Given the description of an element on the screen output the (x, y) to click on. 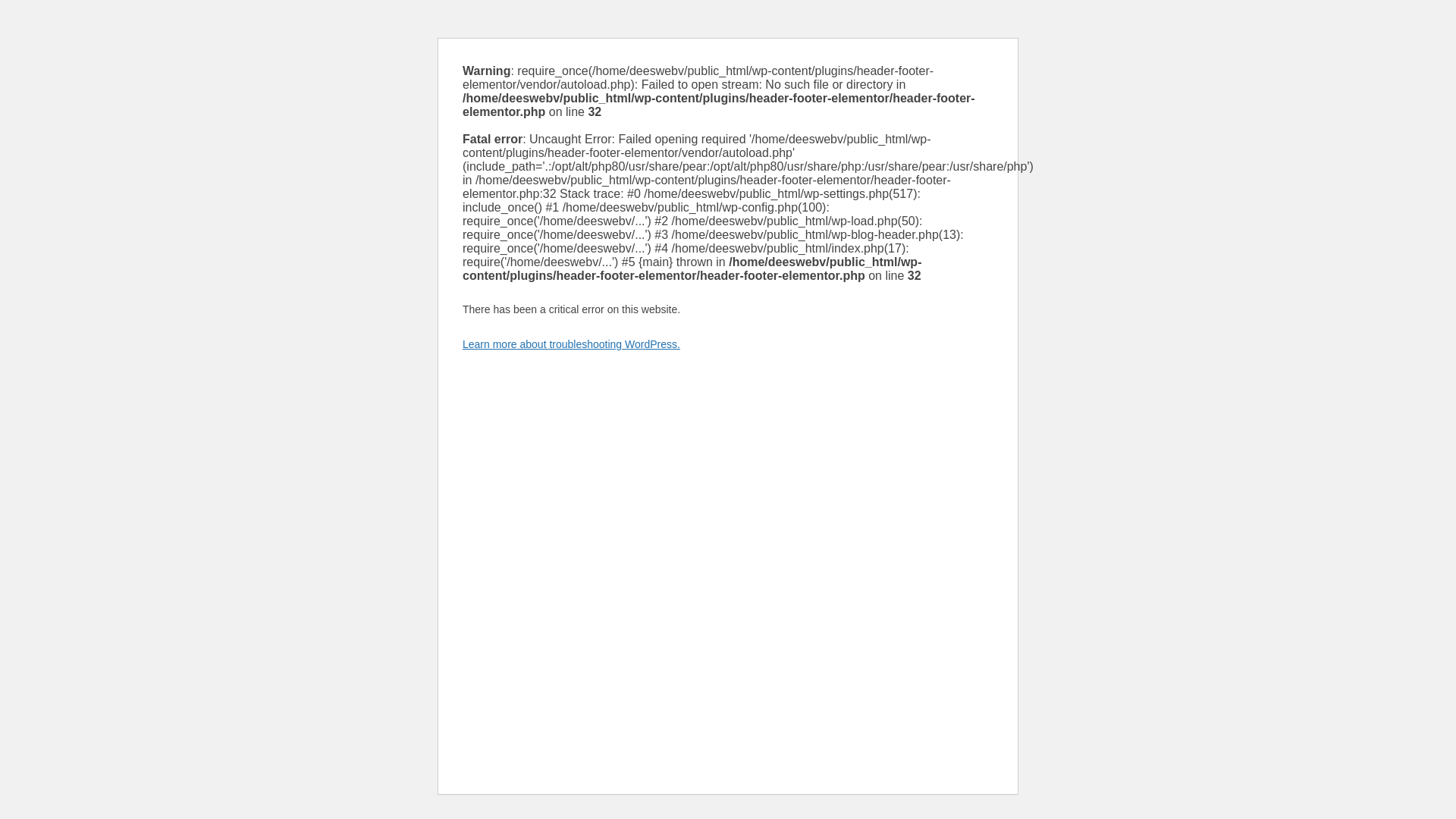
Learn more about troubleshooting WordPress. (571, 344)
